Given the description of an element on the screen output the (x, y) to click on. 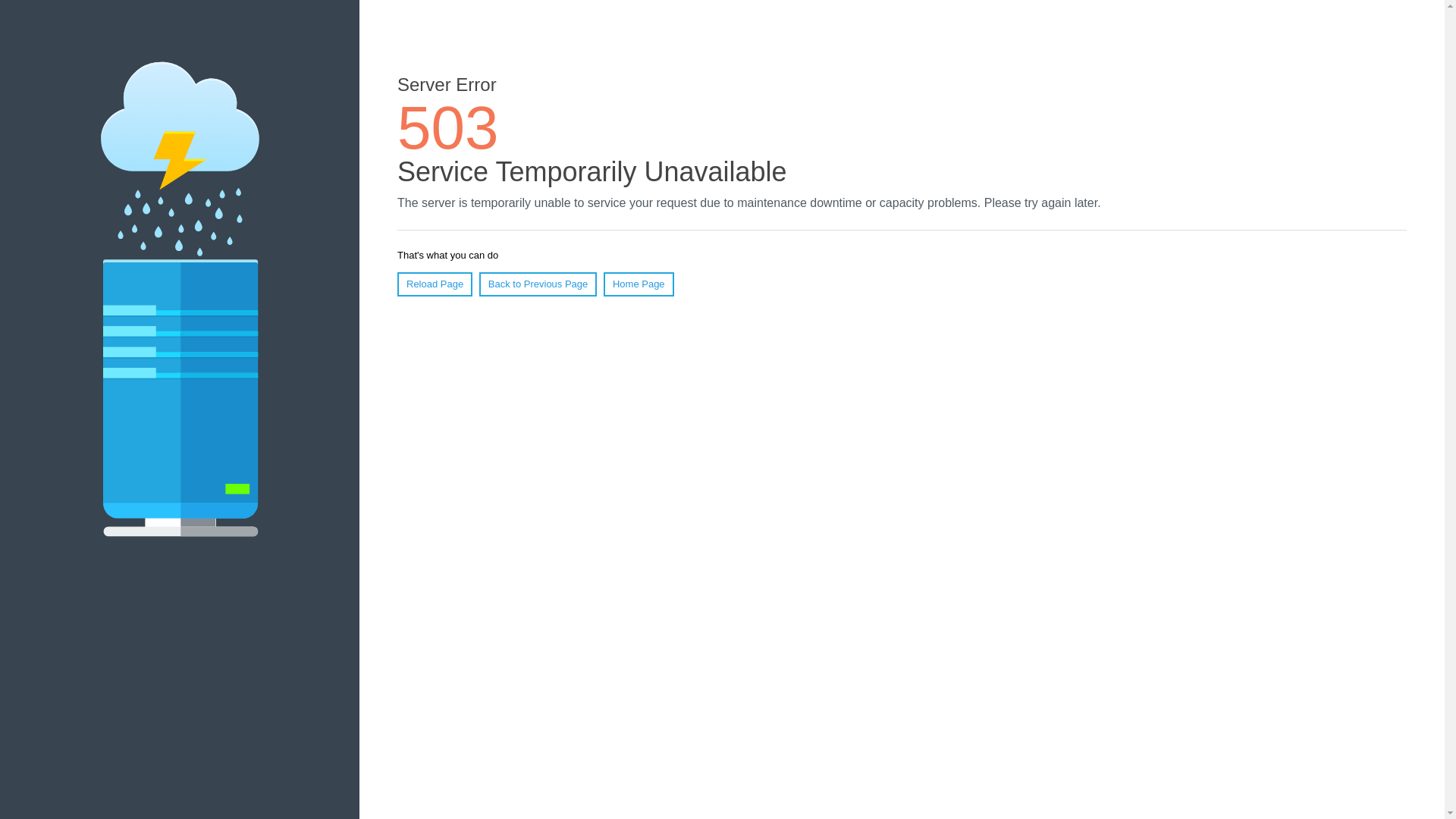
Home Page (639, 283)
Reload Page (434, 283)
Back to Previous Page (537, 283)
